Given the description of an element on the screen output the (x, y) to click on. 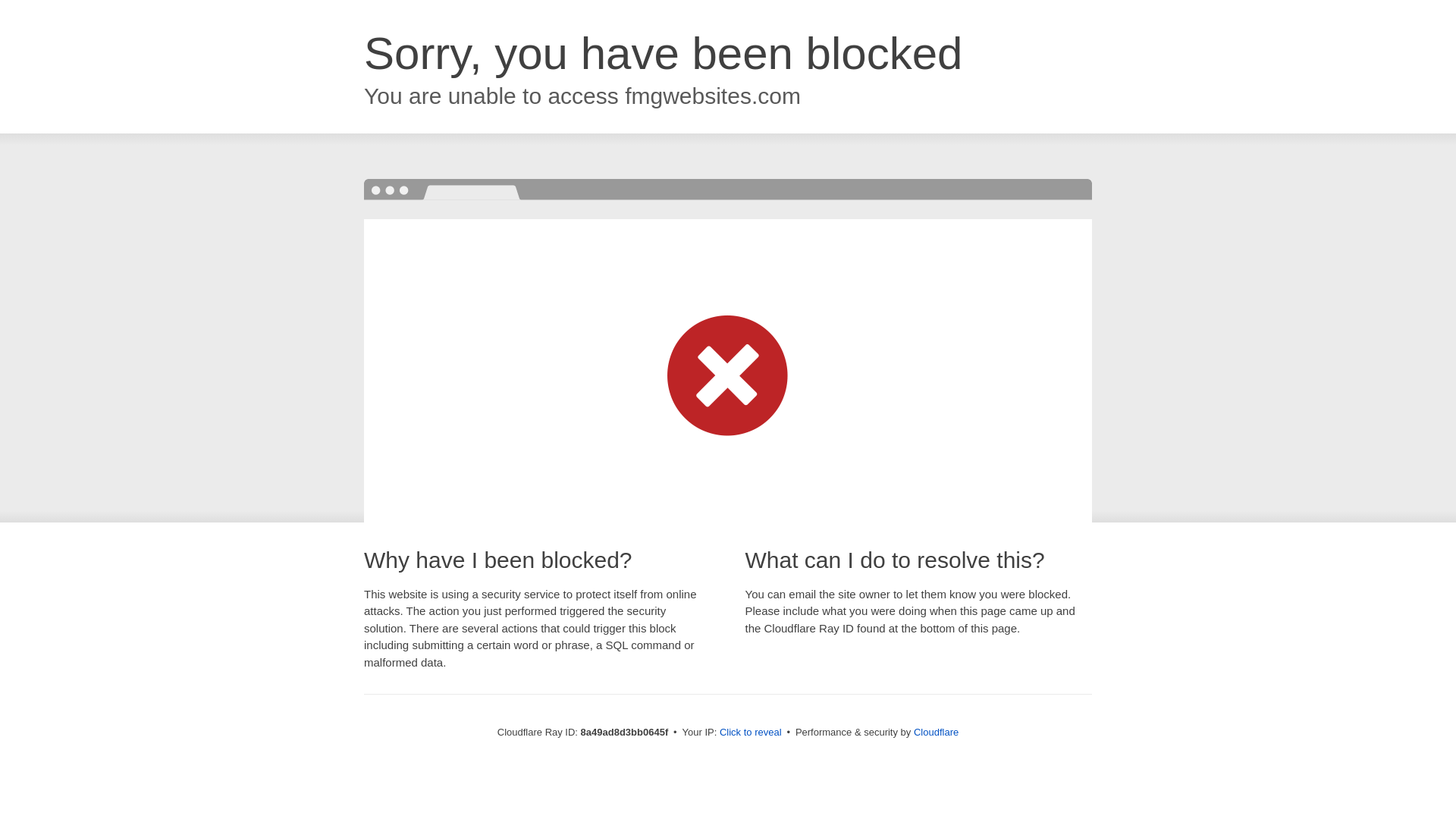
Click to reveal (750, 732)
Cloudflare (936, 731)
